Given the description of an element on the screen output the (x, y) to click on. 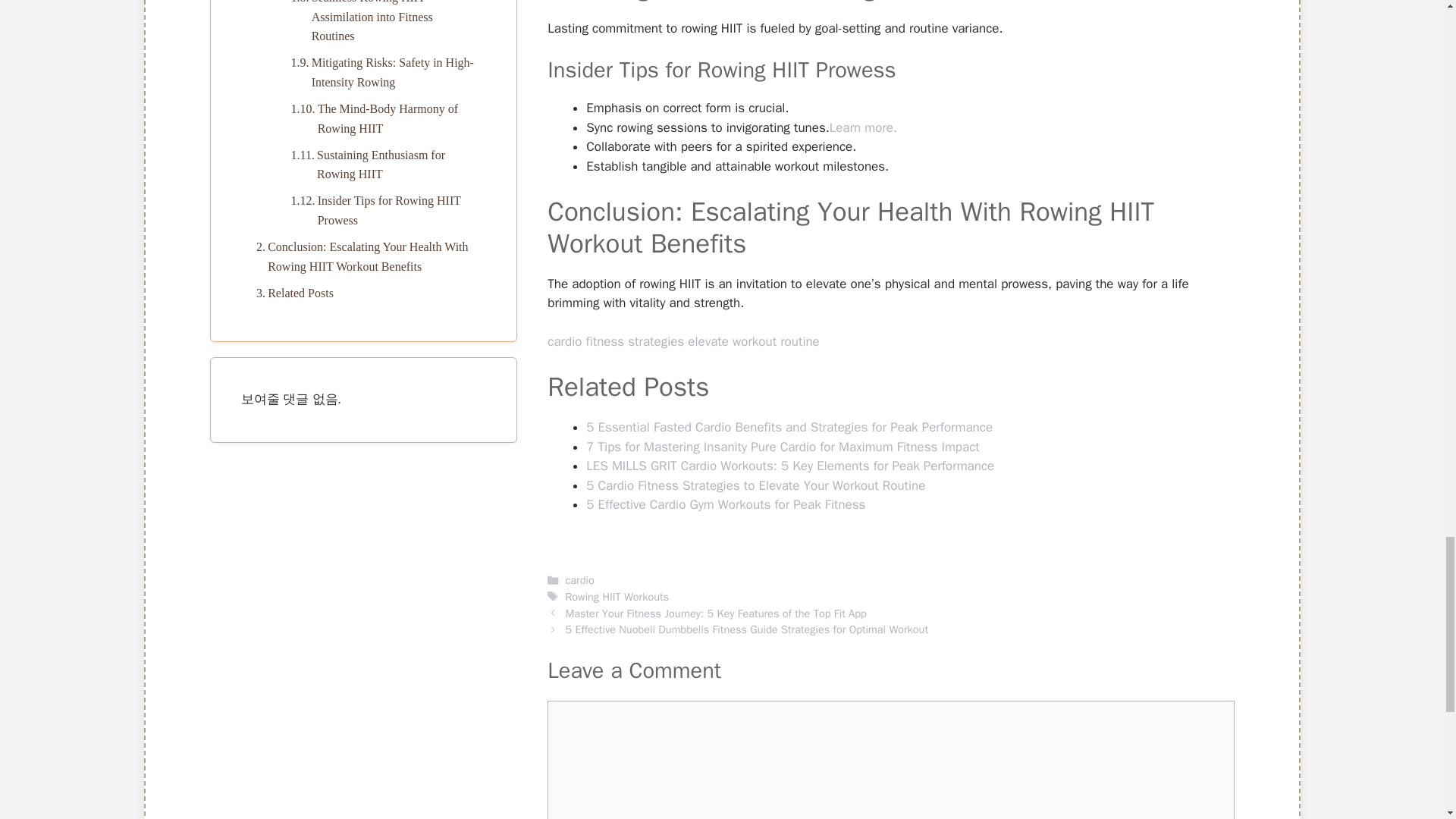
5 Cardio Fitness Strategies to Elevate Your Workout Routine (755, 485)
cardio (579, 580)
cardio fitness strategies elevate workout routine (682, 341)
Learn more. (862, 127)
5 Effective Cardio Gym Workouts for Peak Fitness (725, 504)
Rowing HIIT Workouts (616, 596)
